Given the description of an element on the screen output the (x, y) to click on. 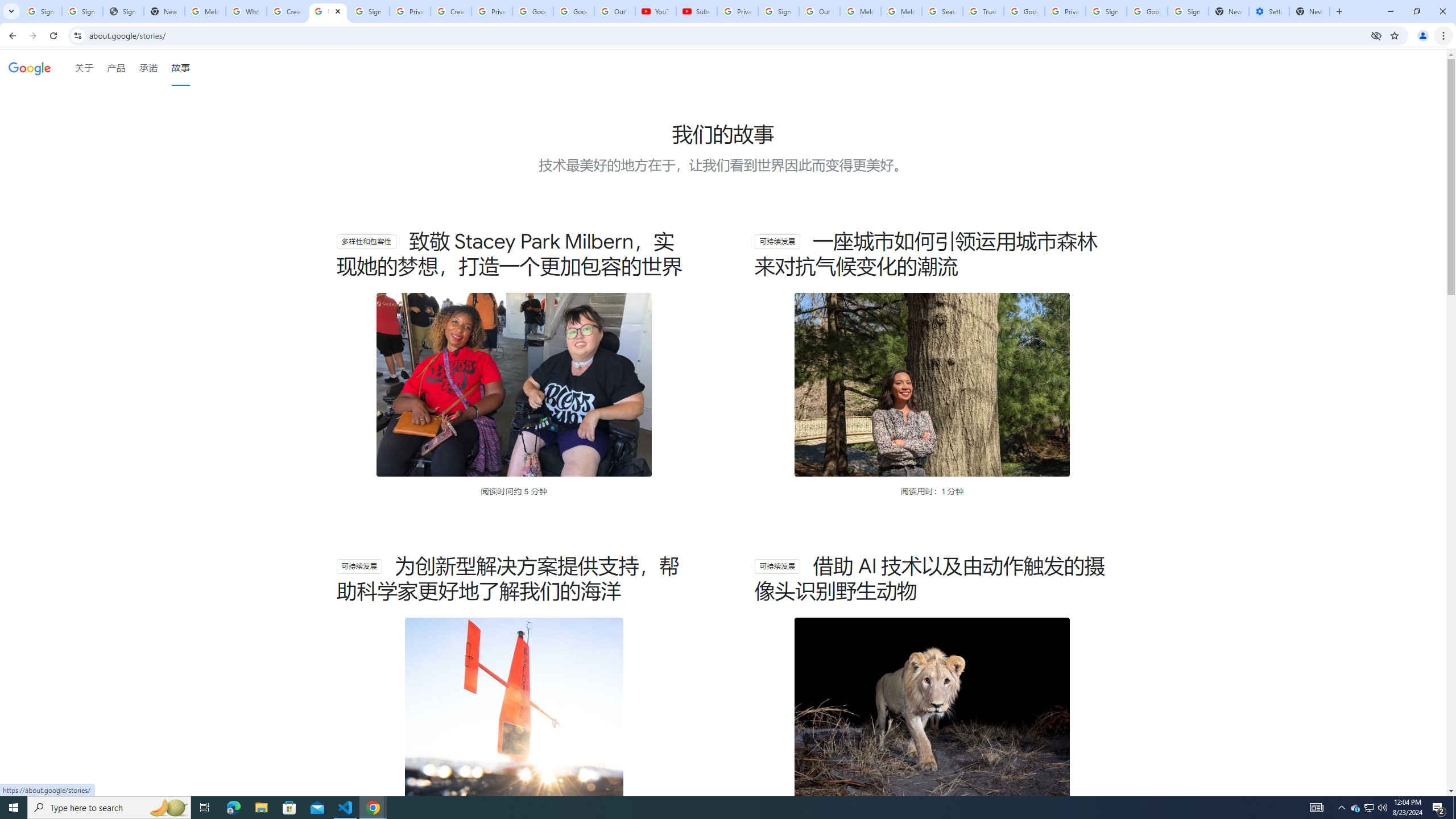
Sign In - USA TODAY (122, 11)
Sign in - Google Accounts (1105, 11)
Sign in - Google Accounts (368, 11)
Sign in - Google Accounts (777, 11)
